Given the description of an element on the screen output the (x, y) to click on. 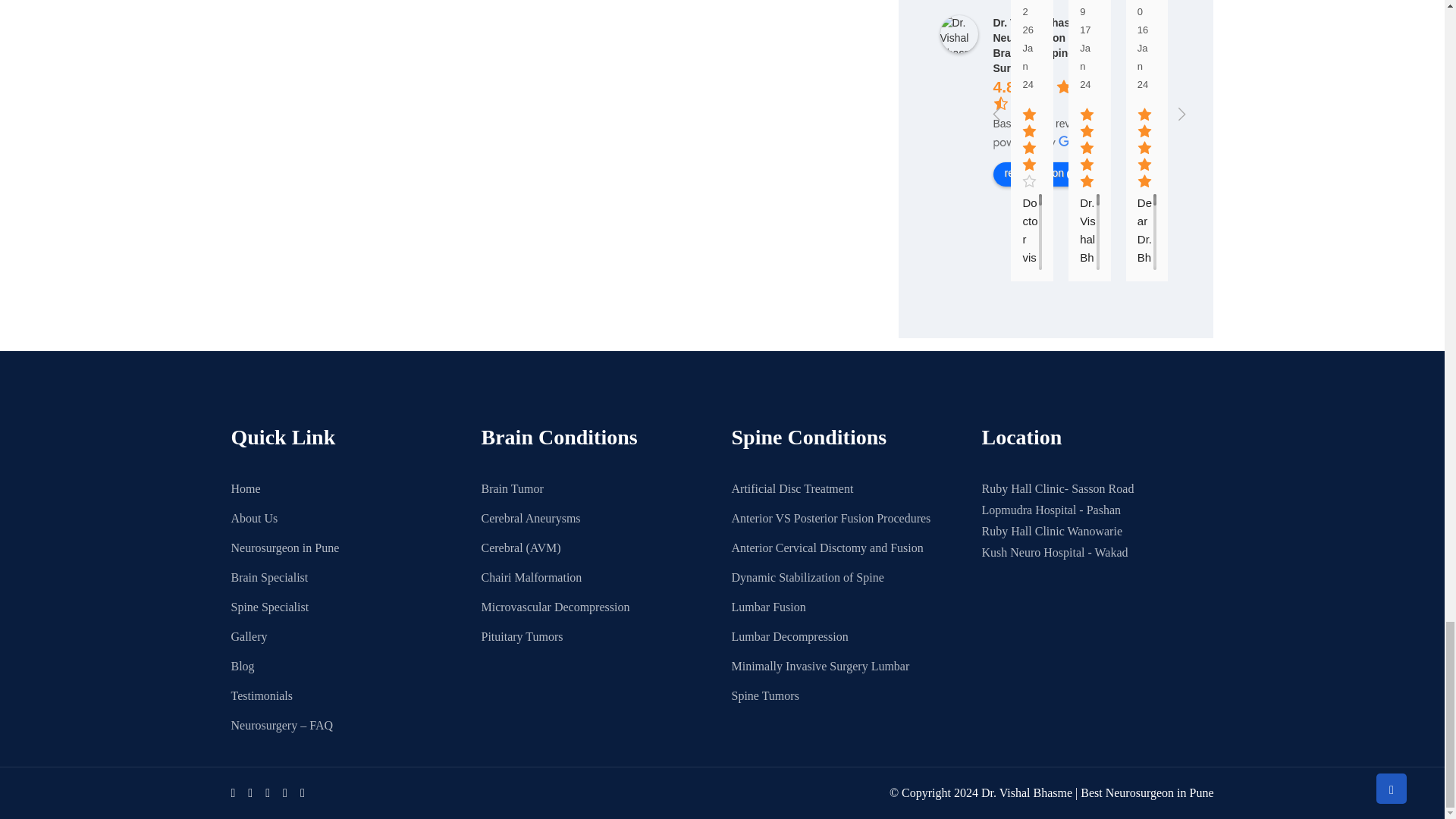
powered by Google (1047, 142)
